Given the description of an element on the screen output the (x, y) to click on. 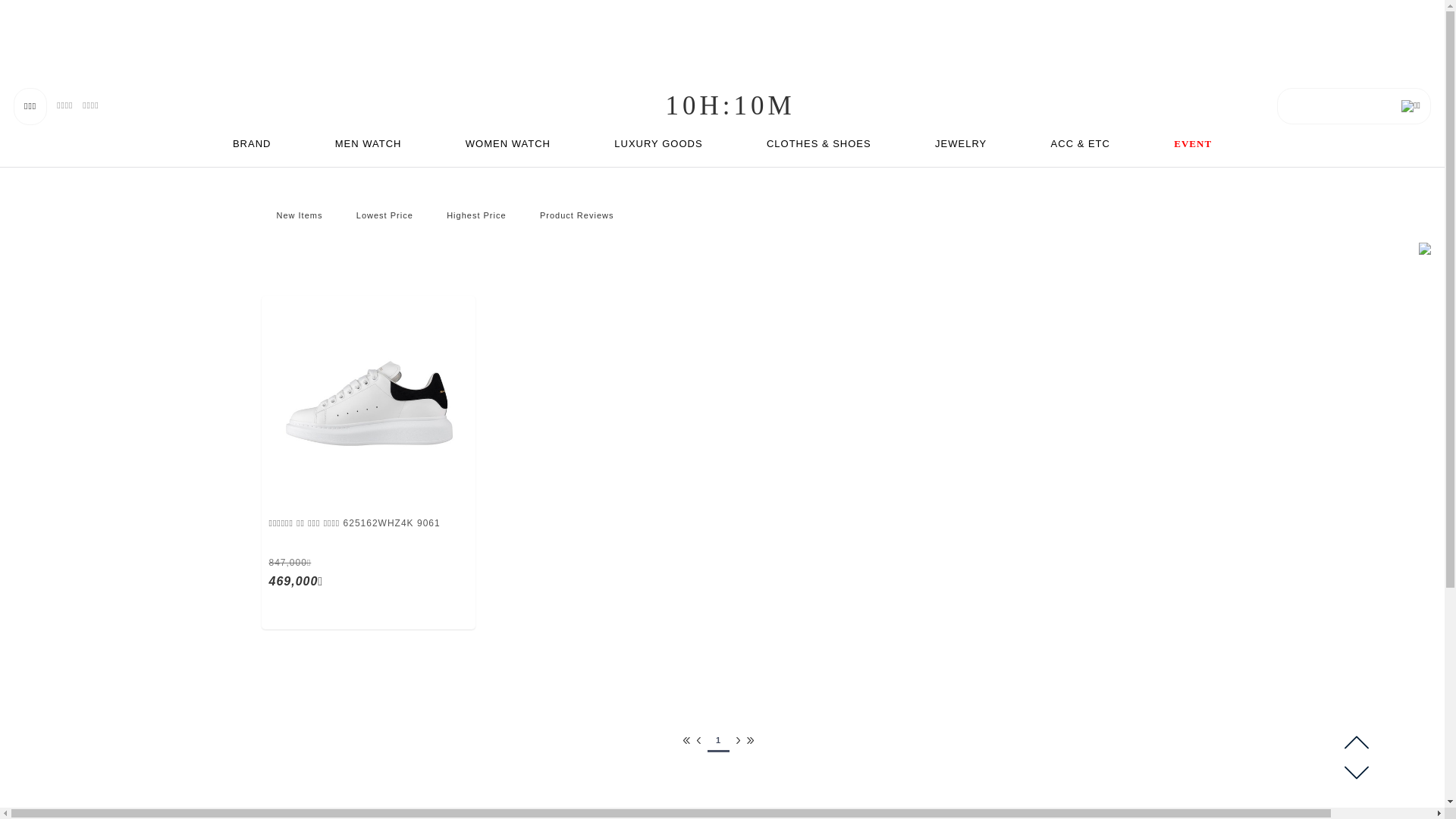
1 Element type: text (718, 740)
LUXURY GOODS Element type: text (657, 143)
BRAND Element type: text (251, 143)
10H:10M Element type: text (730, 105)
ACC & ETC Element type: text (1080, 143)
Highest Price Element type: text (475, 214)
CLOTHES & SHOES Element type: text (818, 143)
New Items Element type: text (299, 214)
Product Reviews Element type: text (576, 214)
Lowest Price Element type: text (384, 214)
MEN WATCH Element type: text (368, 143)
JEWELRY Element type: text (960, 143)
1 Element type: text (722, 30)
WOMEN WATCH Element type: text (507, 143)
EVENT Element type: text (1192, 143)
